Given the description of an element on the screen output the (x, y) to click on. 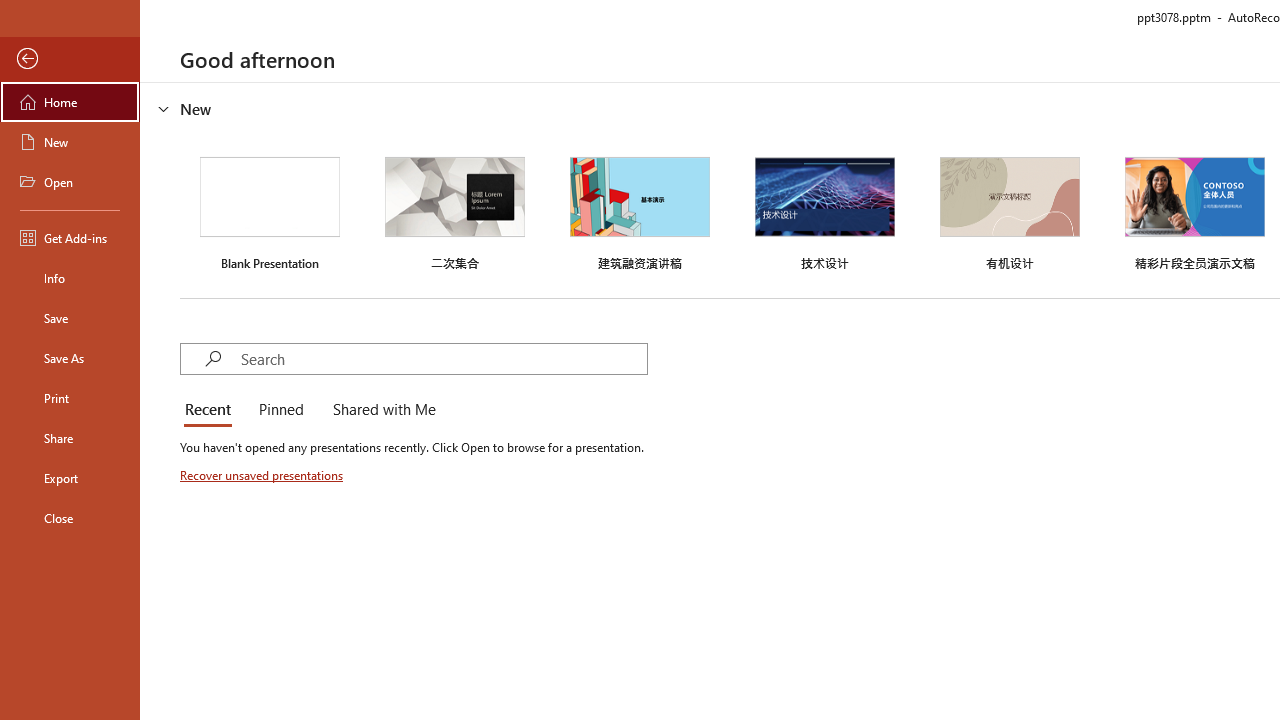
Save As (69, 357)
Export (69, 477)
Print (69, 398)
Back (69, 59)
Pinned (280, 410)
Shared with Me (379, 410)
Hide or show region (164, 108)
